Given the description of an element on the screen output the (x, y) to click on. 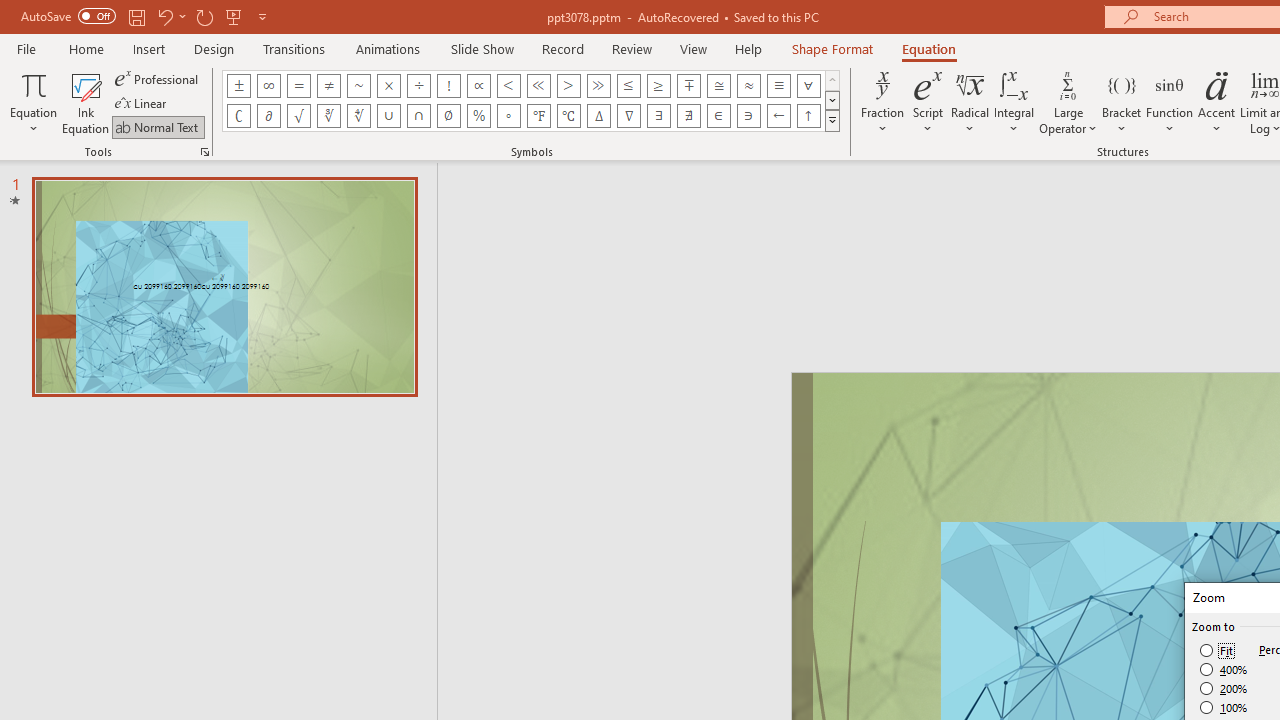
Equation Symbol Not Equal To (328, 85)
Equation Symbol Contains as Member (748, 115)
Integral (1014, 102)
Equation Symbol There Does Not Exist (689, 115)
100% (1224, 707)
Equation Symbol Approximately (358, 85)
Normal Text (158, 126)
Equation Symbol Up Arrow (808, 115)
Equation Symbol Infinity (268, 85)
Equation Symbol For All (808, 85)
Equation Symbol Approximately Equal To (718, 85)
